Given the description of an element on the screen output the (x, y) to click on. 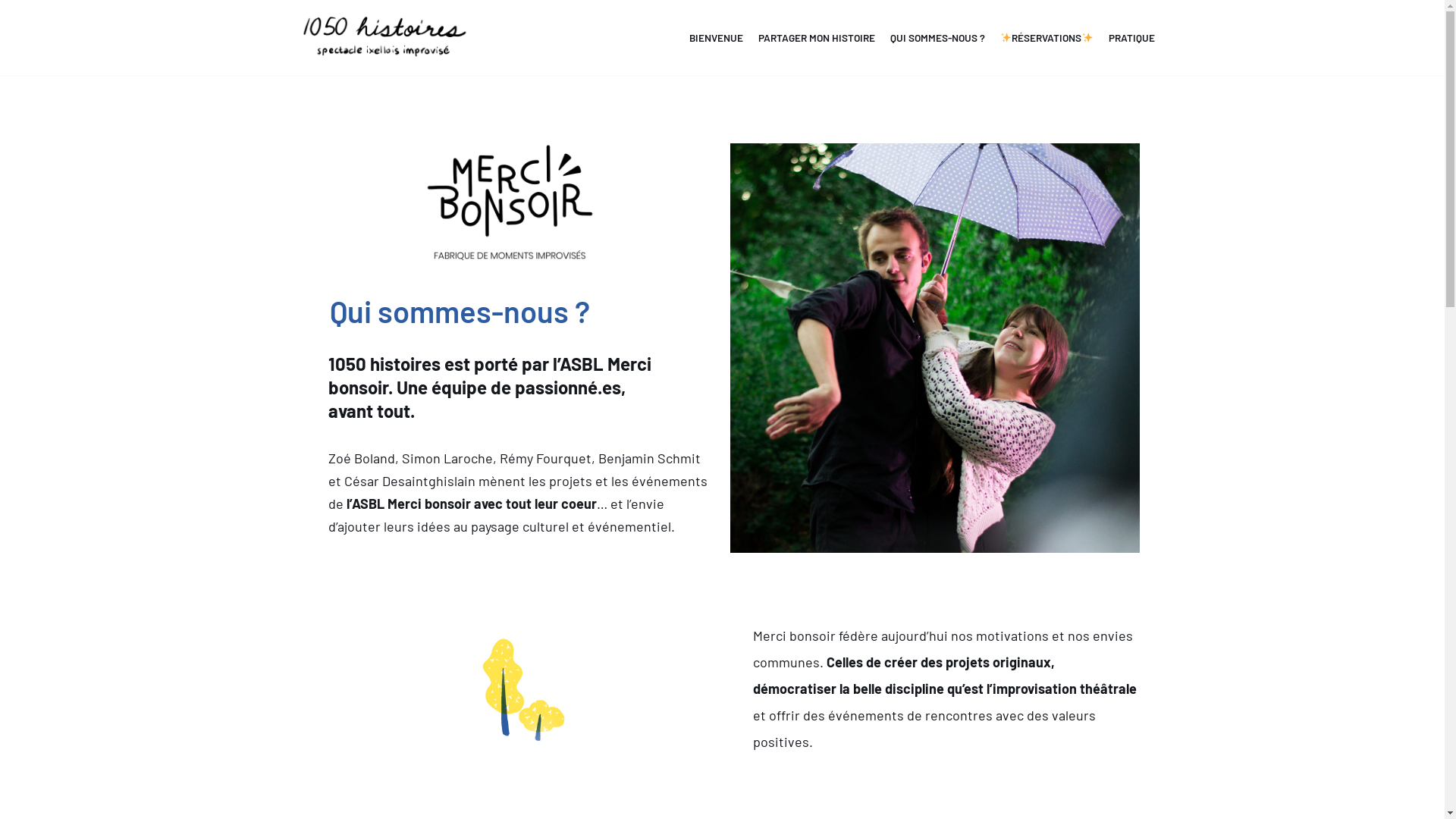
QUI SOMMES-NOUS ? Element type: text (937, 37)
PARTAGER MON HISTOIRE Element type: text (816, 37)
BIENVENUE Element type: text (716, 37)
PRATIQUE Element type: text (1131, 37)
1050 histoires Element type: hover (384, 37)
Aller au contenu Element type: text (15, 31)
